Given the description of an element on the screen output the (x, y) to click on. 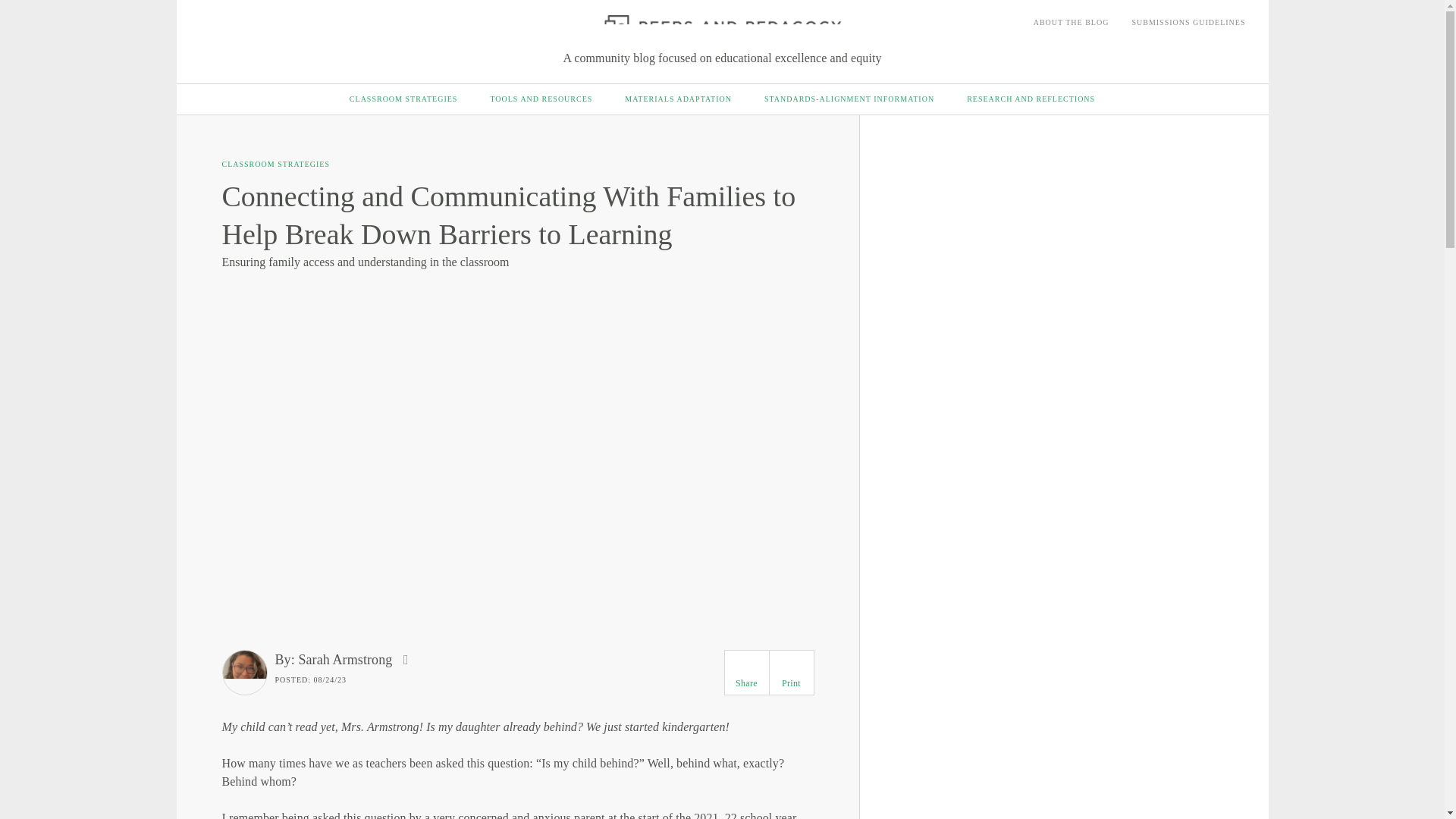
CLASSROOM STRATEGIES (403, 99)
Achieve The Core (255, 25)
ABOUT THE BLOG (1071, 22)
SUBMISSIONS GUIDELINES (1187, 22)
RESEARCH AND REFLECTIONS (1030, 99)
Print (791, 664)
MATERIALS ADAPTATION (678, 99)
TOOLS AND RESOURCES (540, 99)
Search (1241, 36)
S (1237, 37)
